Given the description of an element on the screen output the (x, y) to click on. 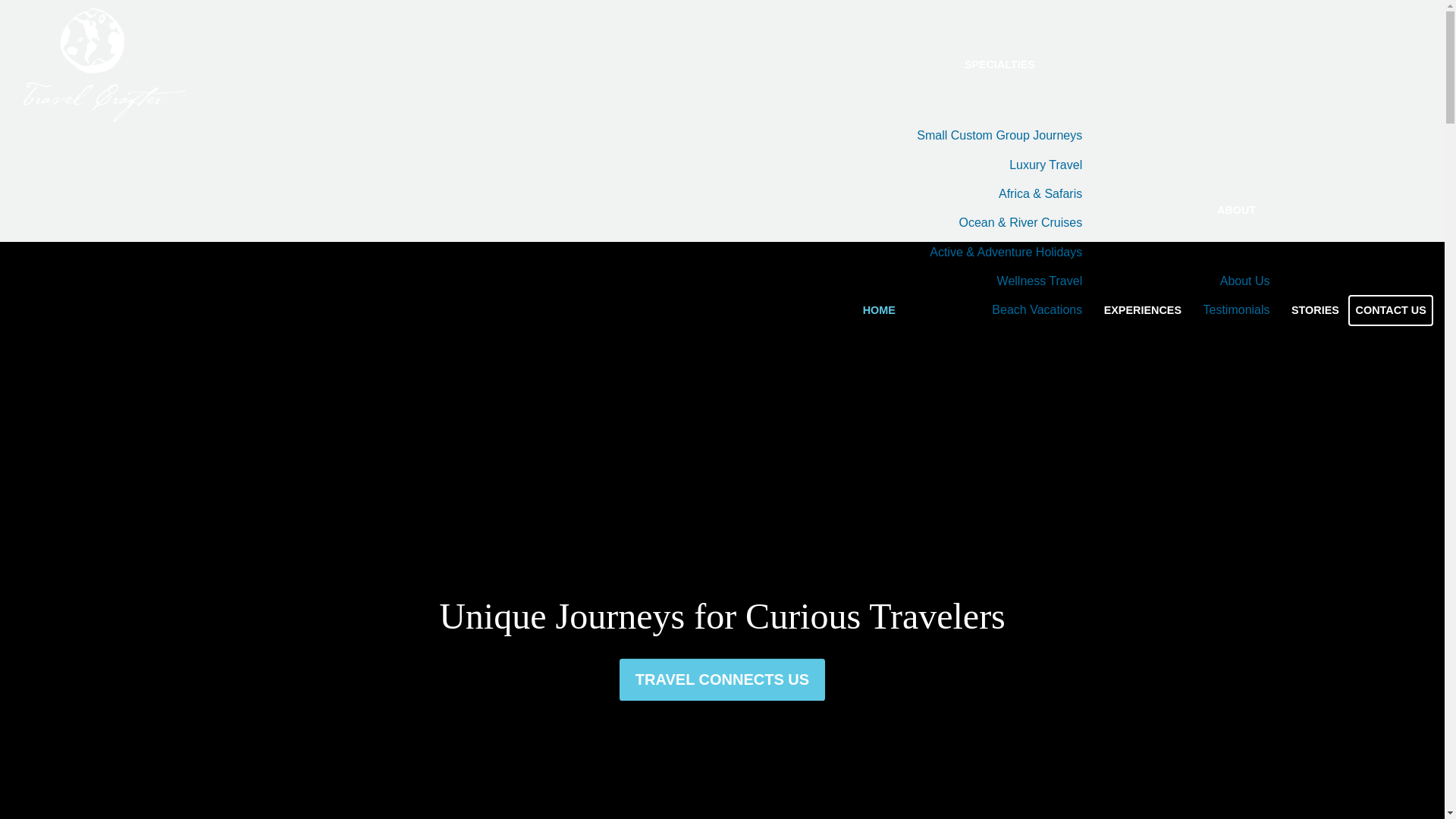
CONTACT US (1390, 309)
Beach Vacations (999, 309)
Testimonials (1236, 309)
Luxury Travel (999, 164)
SPECIALTIES (999, 64)
About Us (1236, 280)
Small Custom Group Journeys (999, 135)
TRAVEL CONNECTS US (722, 718)
Wellness Travel (999, 280)
